Given the description of an element on the screen output the (x, y) to click on. 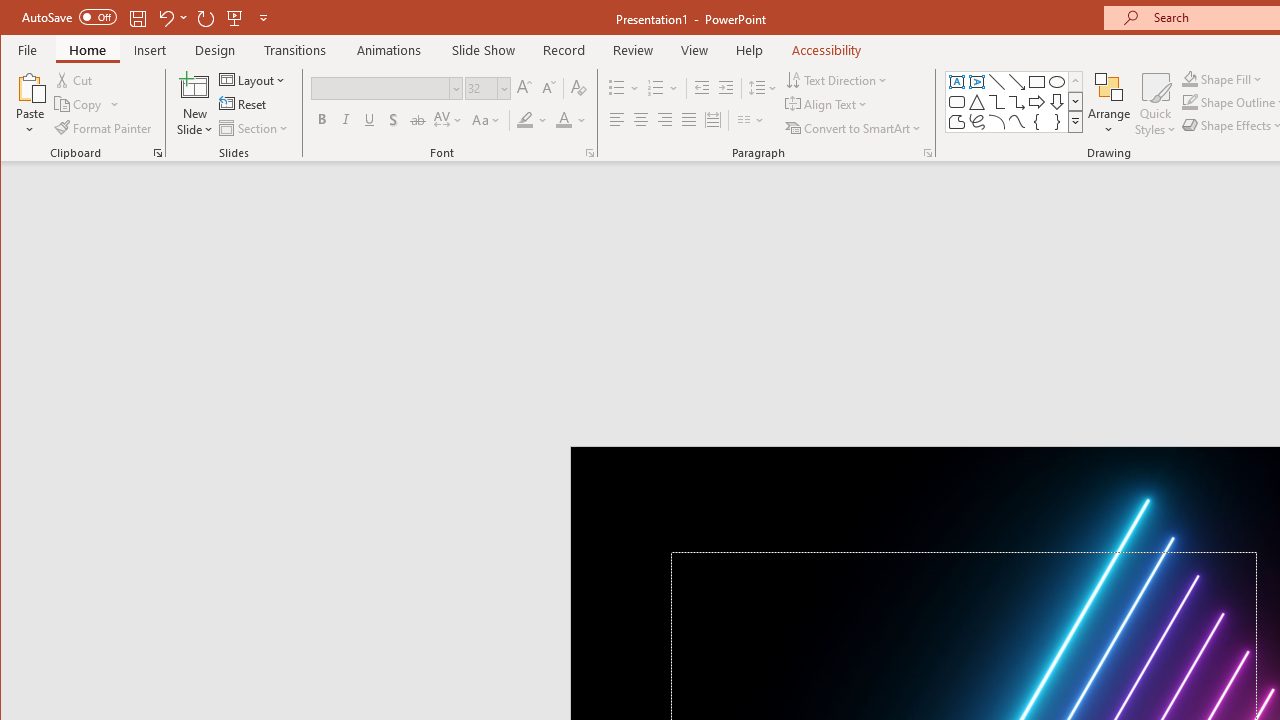
Font... (589, 152)
Strikethrough (417, 119)
Clear Formatting (579, 88)
Format Painter (104, 127)
Cut (74, 80)
Distributed (712, 119)
Italic (346, 119)
Rectangle: Rounded Corners (956, 102)
Left Brace (1036, 121)
